Given the description of an element on the screen output the (x, y) to click on. 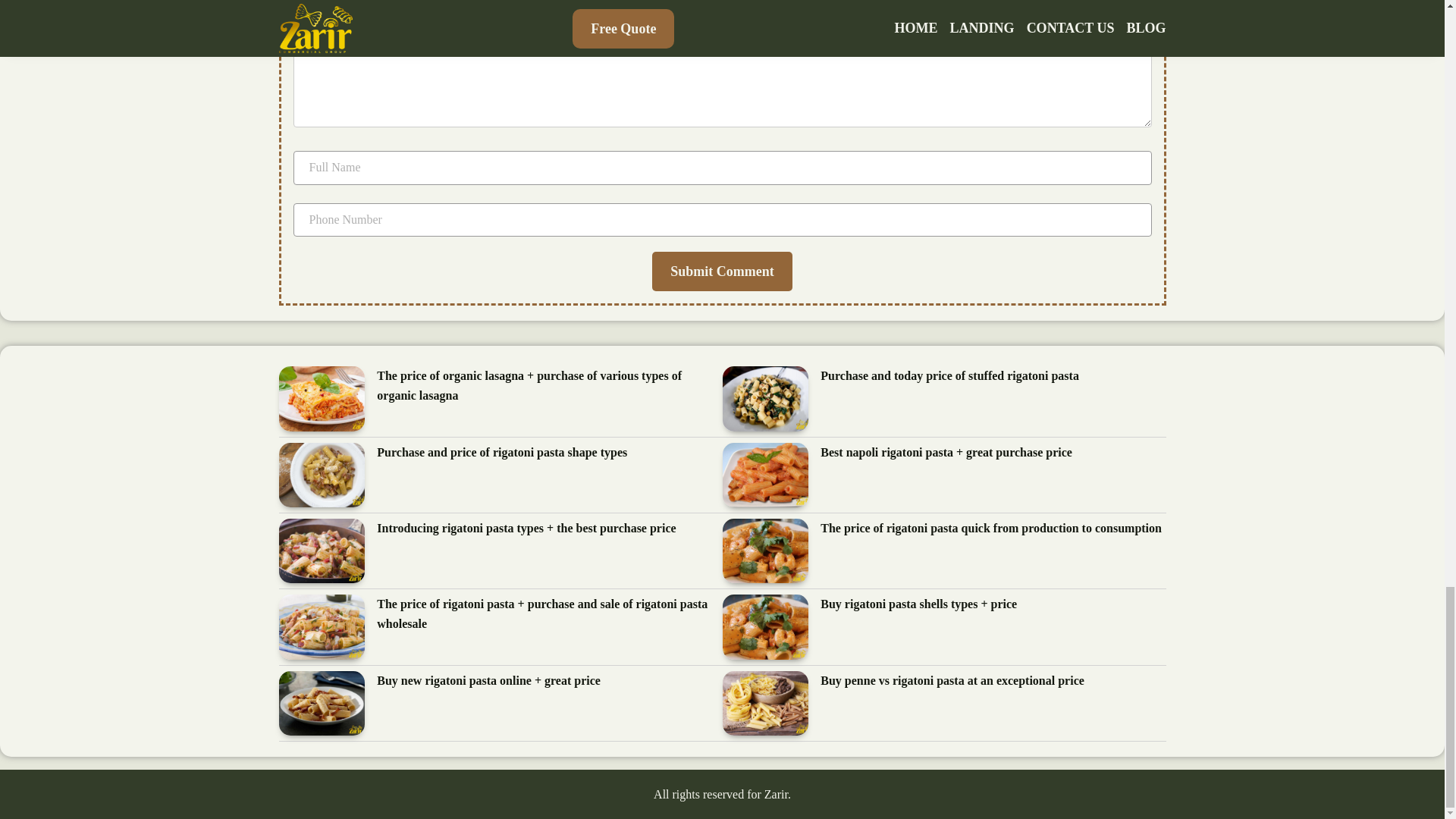
Purchase and price of rigatoni pasta shape types (502, 453)
Purchase and today price of stuffed rigatoni pasta (949, 376)
Submit Comment (722, 271)
Buy penne vs rigatoni pasta at an exceptional price (952, 680)
Submit Comment (722, 271)
